Given the description of an element on the screen output the (x, y) to click on. 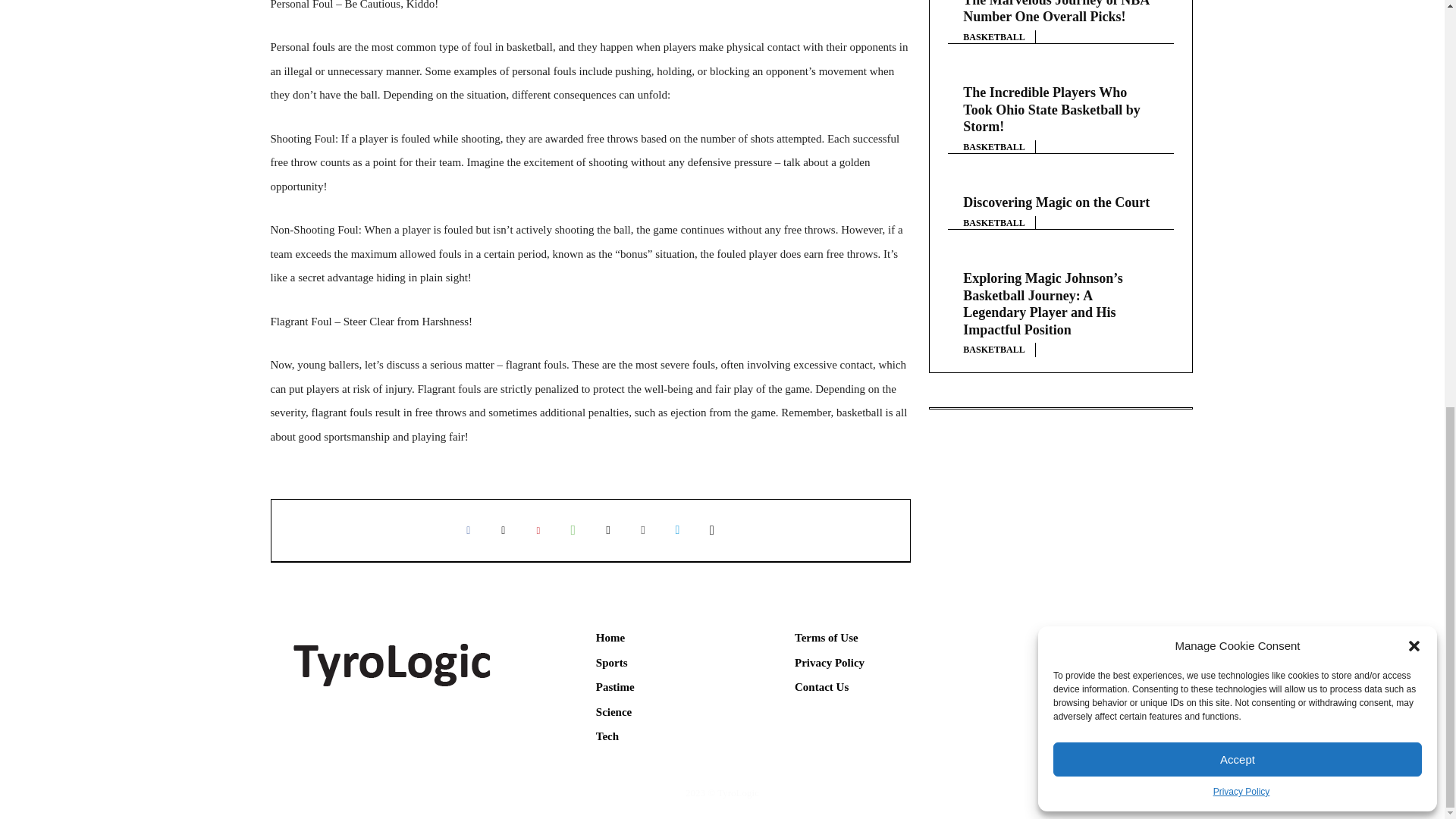
Pinterest (537, 530)
WhatsApp (572, 530)
Facebook (467, 530)
Twitter (502, 530)
